Given the description of an element on the screen output the (x, y) to click on. 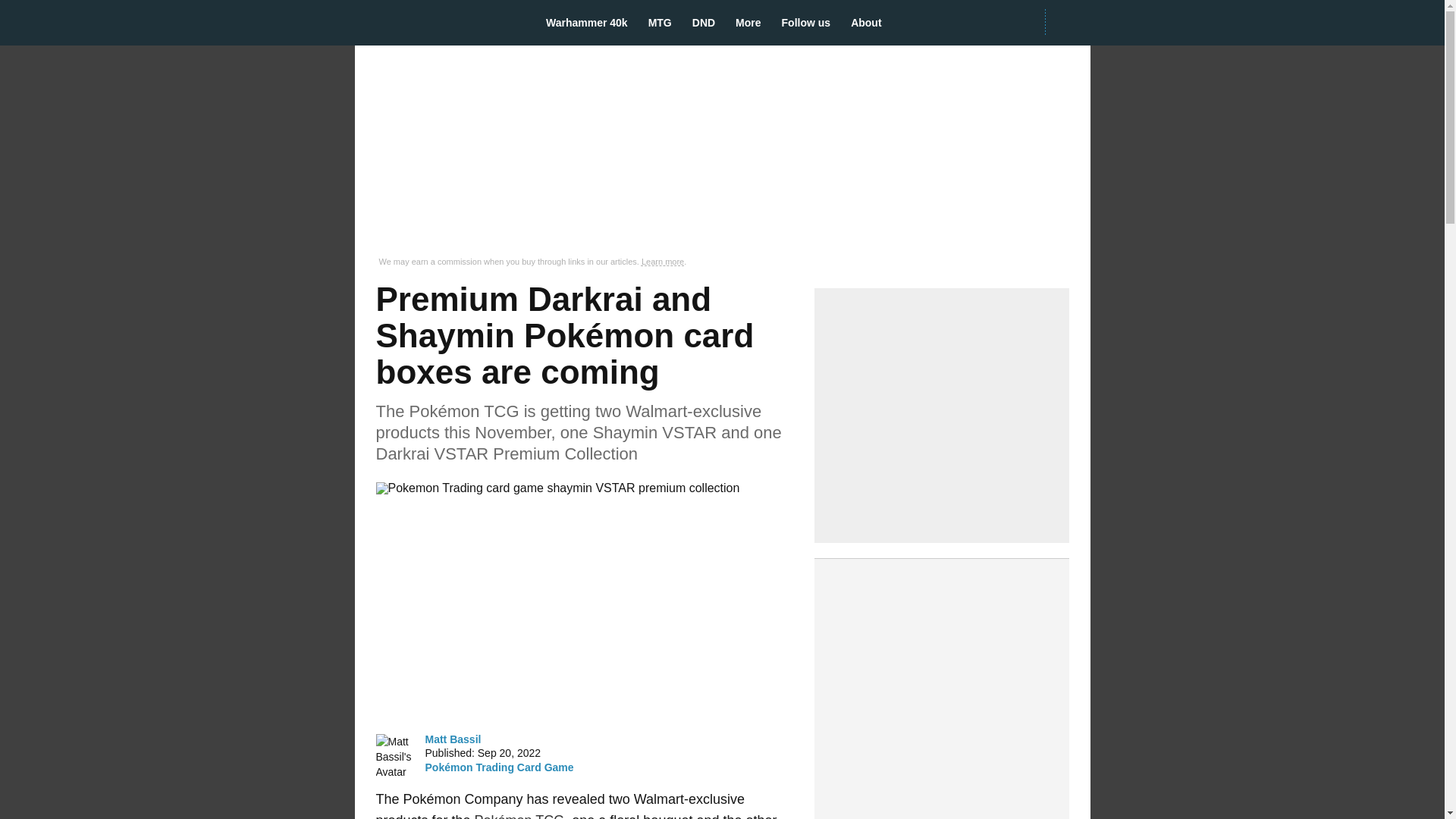
Learn more (663, 261)
Warhammer 40k (591, 22)
Wargamer (437, 22)
Matt Bassil (452, 739)
Follow us (810, 22)
Network N Media (1067, 22)
